Given the description of an element on the screen output the (x, y) to click on. 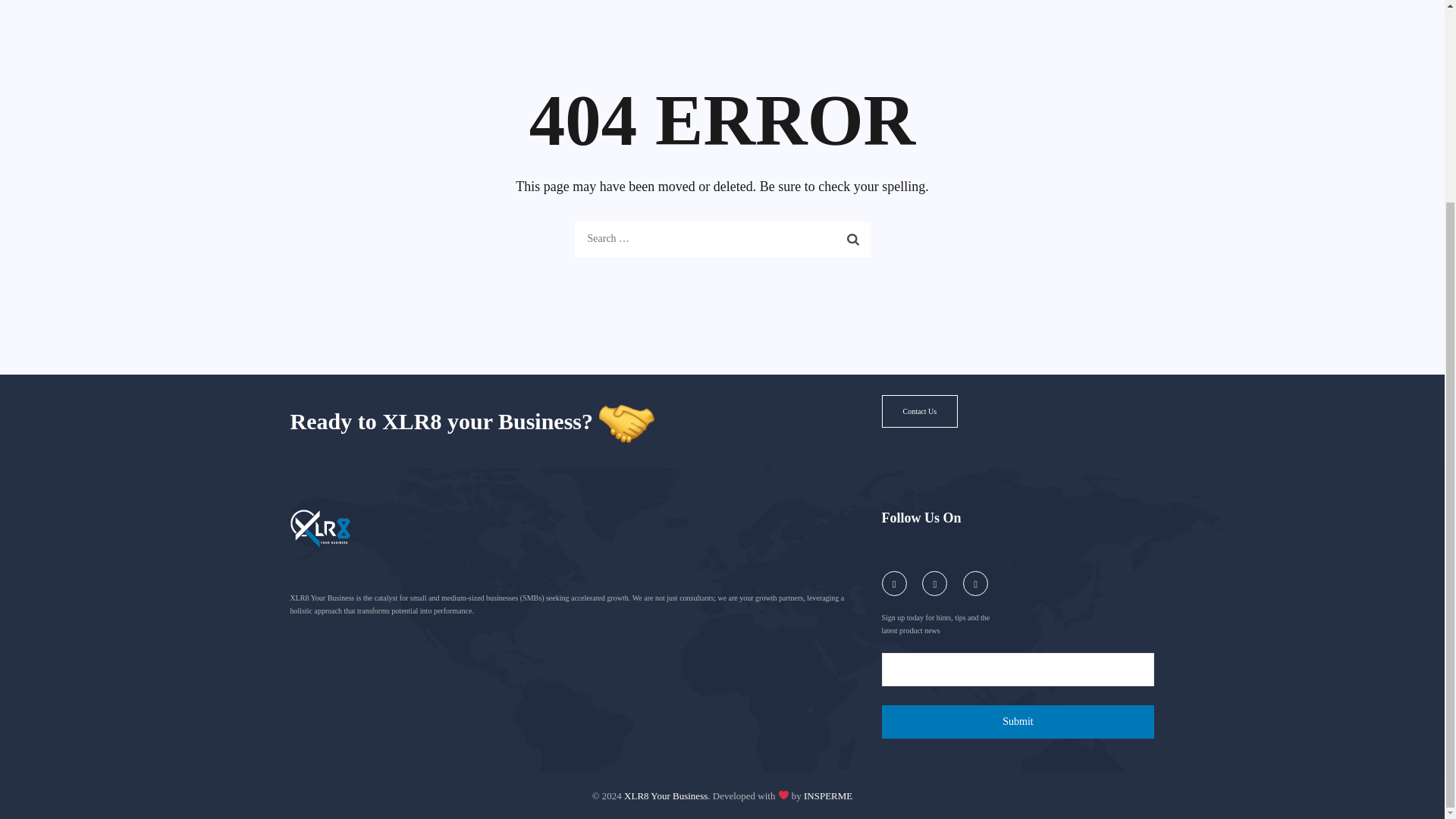
Search (852, 238)
Search (852, 238)
INSPERME (827, 794)
Search (852, 238)
Contact Us (919, 410)
XLR8 Your Business (665, 794)
Submit (1017, 721)
Submit (1017, 721)
